Given the description of an element on the screen output the (x, y) to click on. 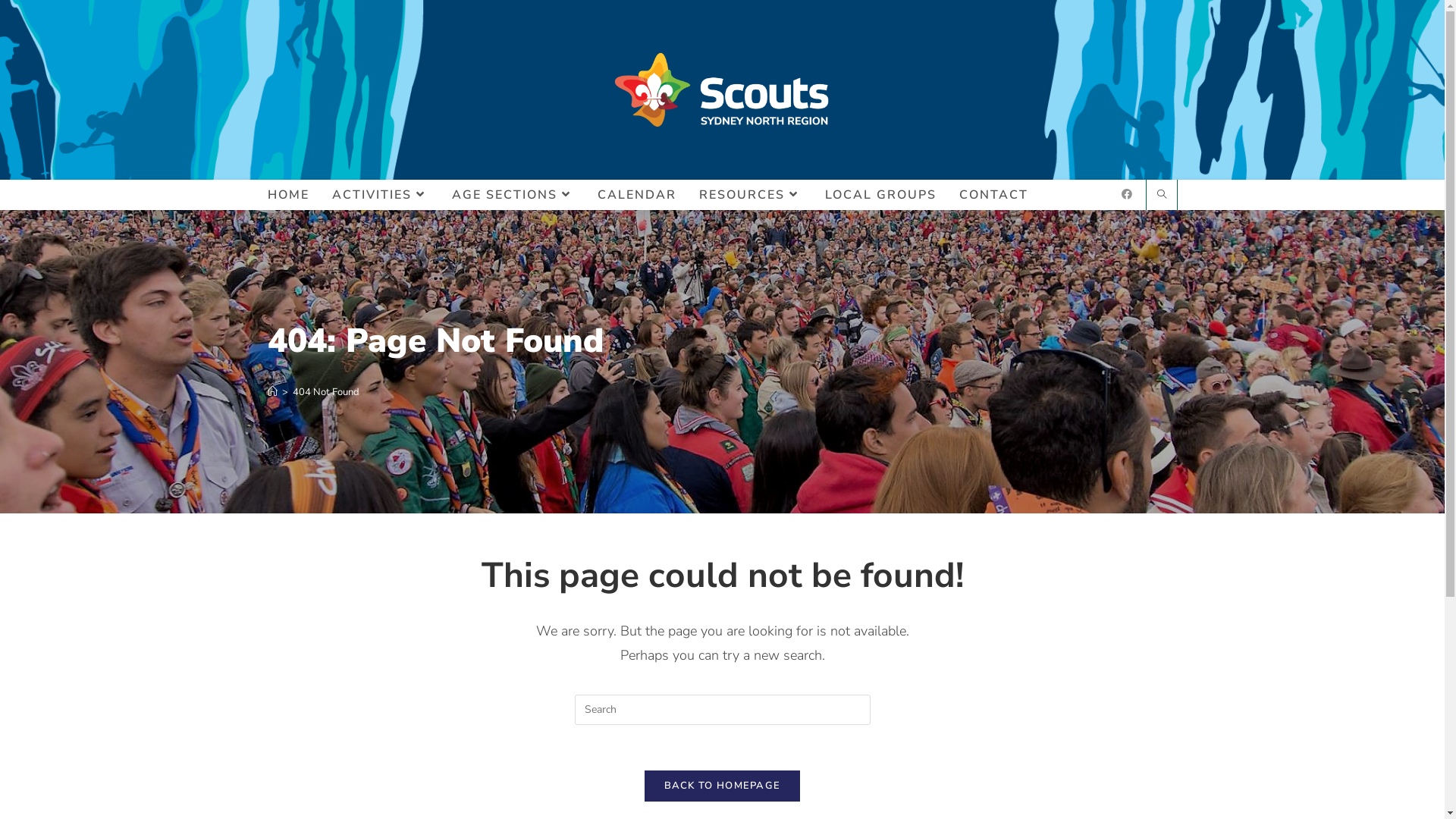
ACTIVITIES Element type: text (379, 194)
LOCAL GROUPS Element type: text (879, 194)
CONTACT Element type: text (993, 194)
BACK TO HOMEPAGE Element type: text (722, 785)
404 Not Found Element type: text (325, 391)
RESOURCES Element type: text (749, 194)
CALENDAR Element type: text (636, 194)
HOME Element type: text (288, 194)
AGE SECTIONS Element type: text (512, 194)
